Given the description of an element on the screen output the (x, y) to click on. 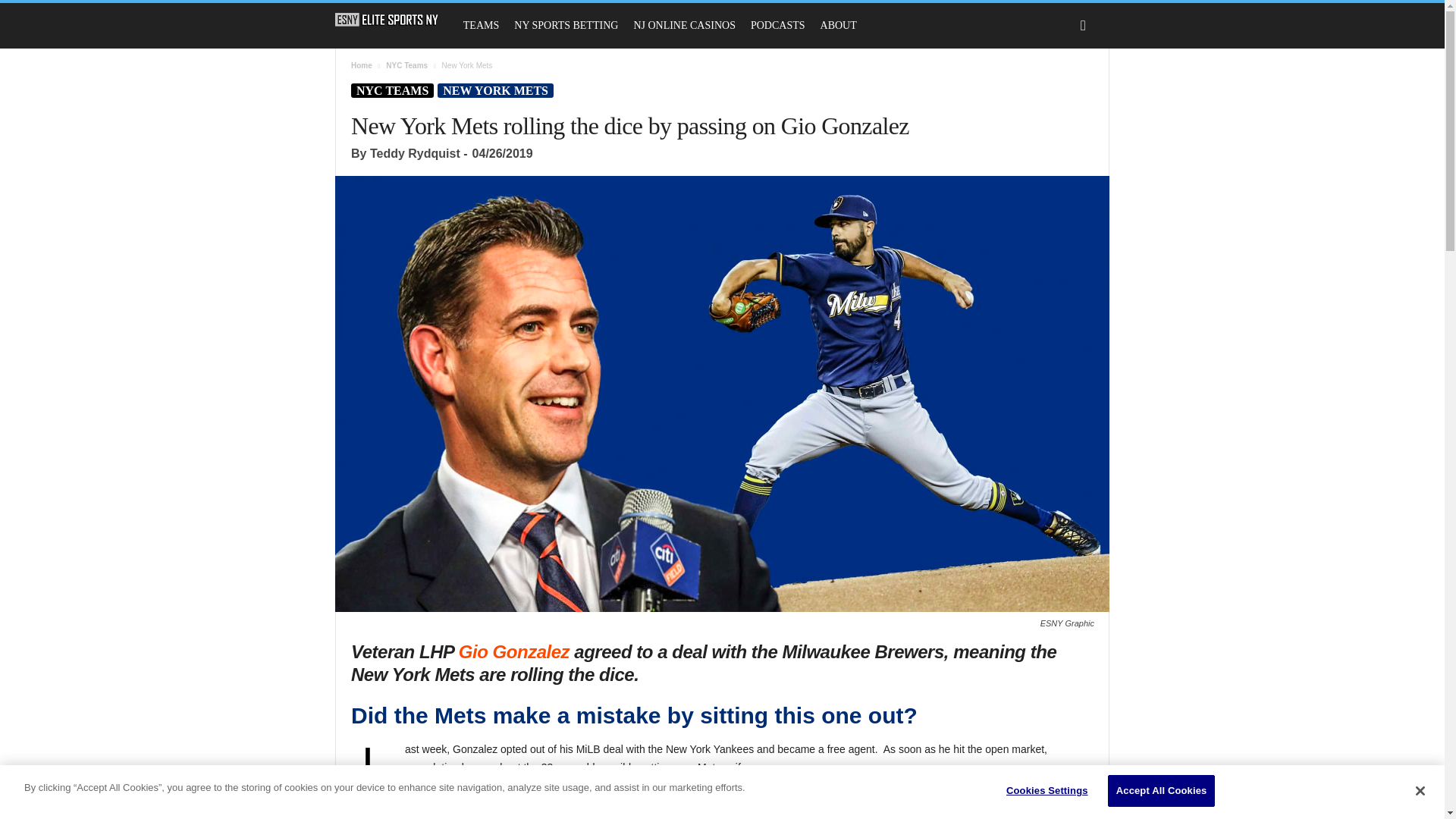
Elite Sports NY (394, 19)
TEAMS (480, 25)
Elite Sports NY (386, 19)
View all posts in NYC Teams (406, 65)
